Given the description of an element on the screen output the (x, y) to click on. 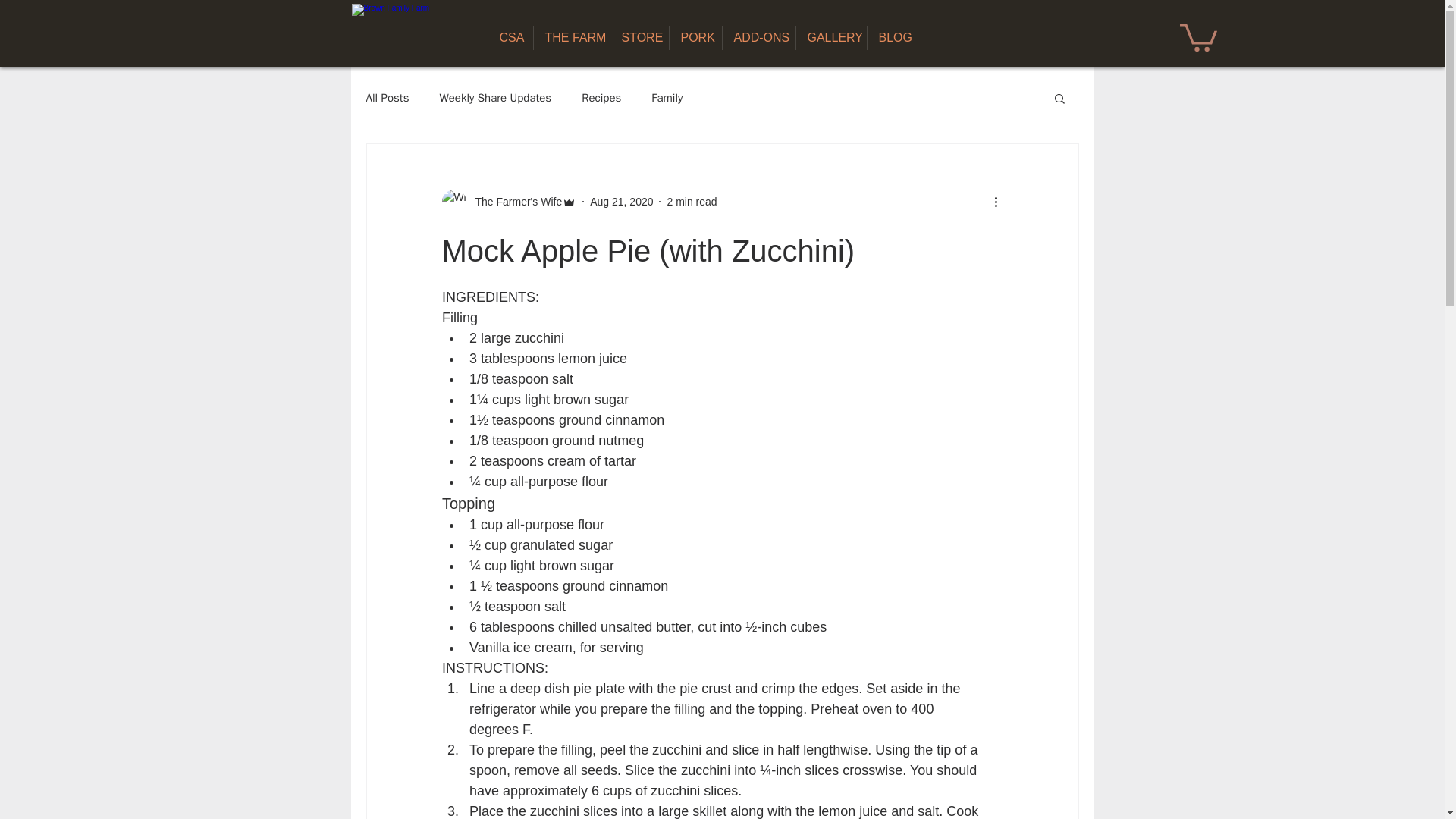
Family (666, 97)
THE FARM (572, 37)
CSA (509, 37)
Recipes (600, 97)
PORK (694, 37)
All Posts (387, 97)
2 min read (691, 201)
Aug 21, 2020 (620, 201)
ADD-ONS (758, 37)
The Farmer's Wife (513, 201)
STORE (639, 37)
Weekly Share Updates (495, 97)
BLOG (892, 37)
GALLERY (831, 37)
